Given the description of an element on the screen output the (x, y) to click on. 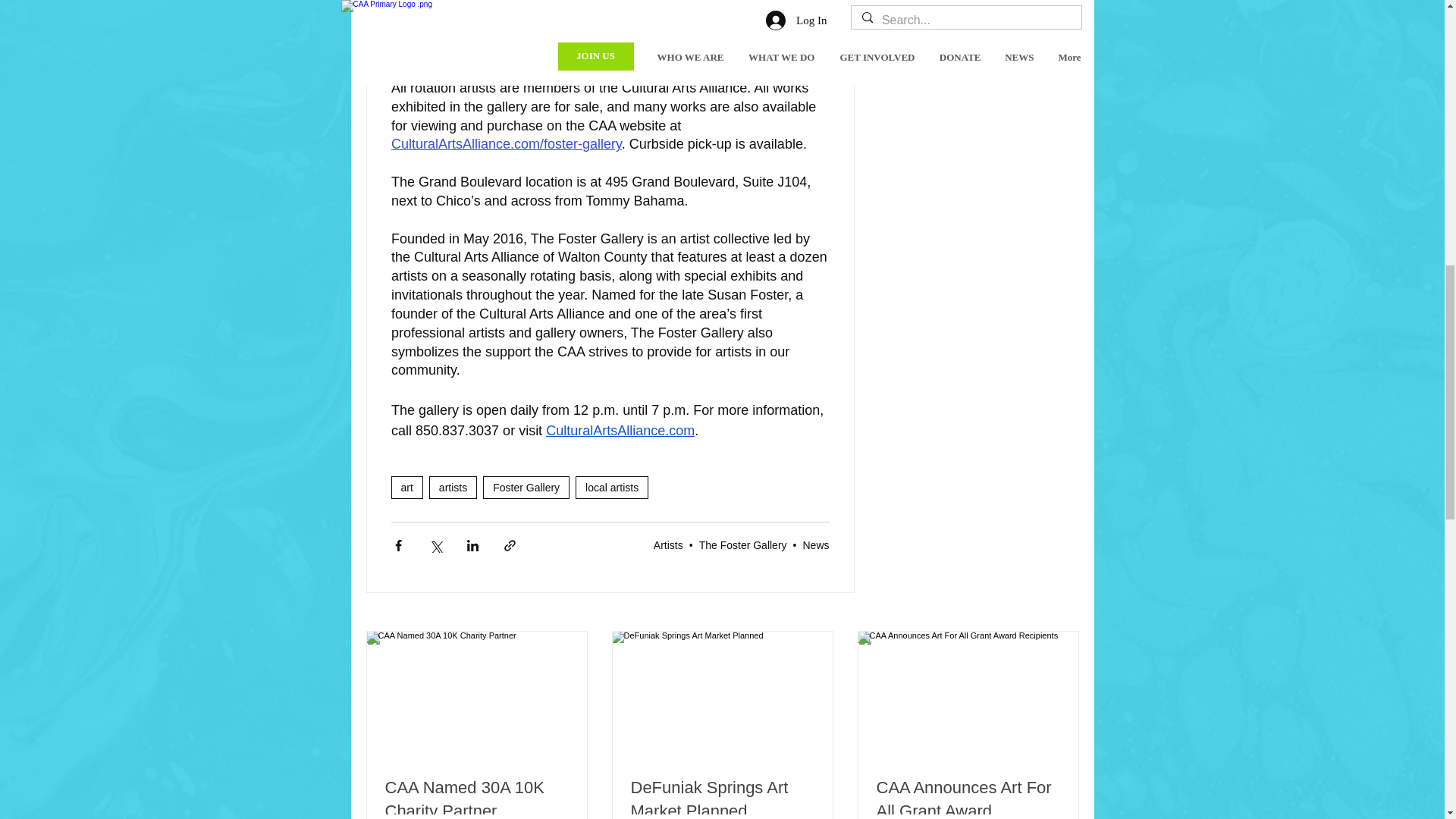
CulturalArtsAlliance.com (620, 430)
art (407, 486)
